Given the description of an element on the screen output the (x, y) to click on. 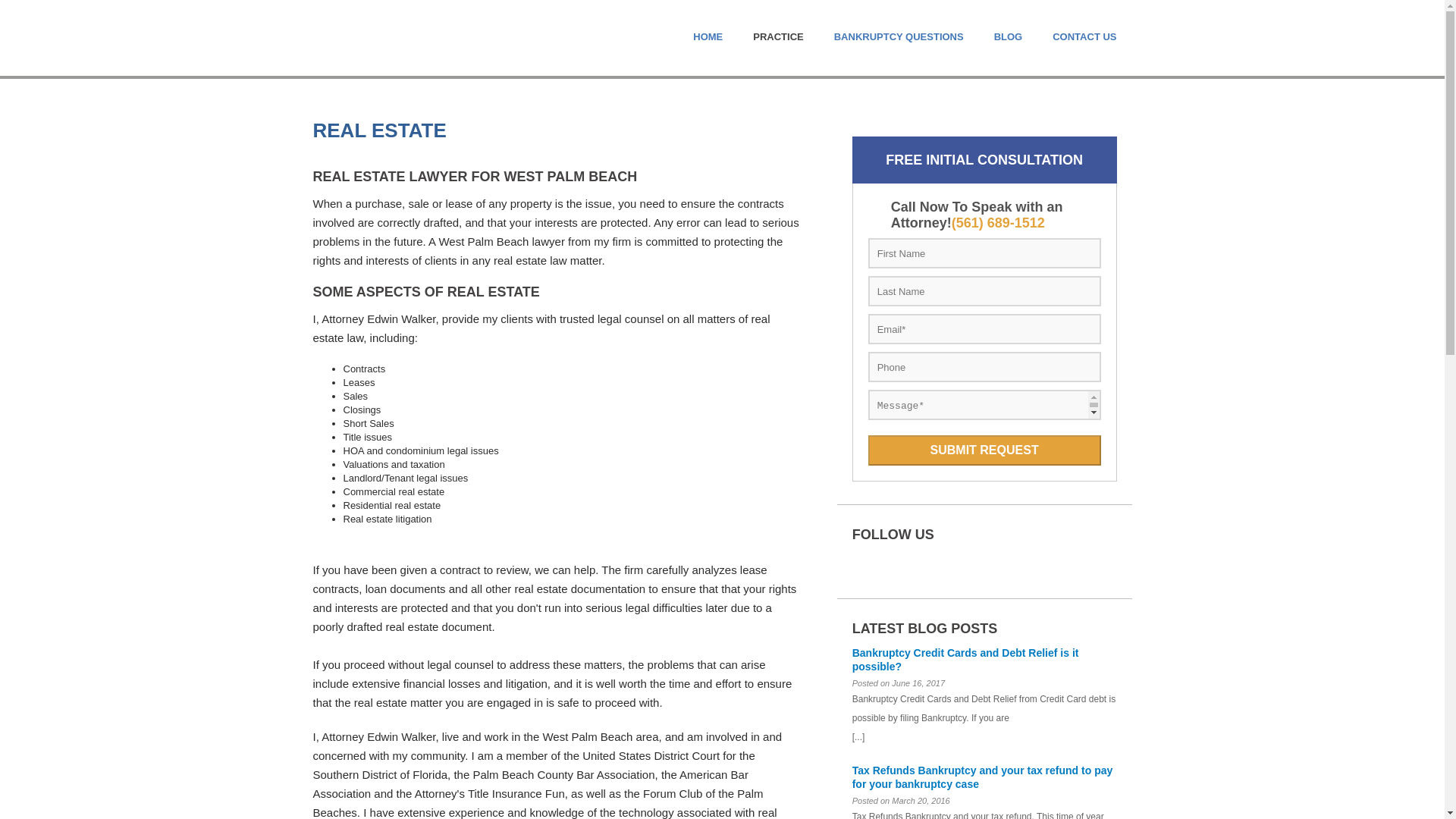
facebook (923, 563)
avvo (879, 563)
PRACTICE (777, 36)
youtube (1002, 563)
BANKRUPTCY QUESTIONS (899, 36)
twitter (976, 563)
HOME (707, 36)
SUBMIT REQUEST (983, 450)
BLOG (1008, 36)
linkedin (949, 563)
